Given the description of an element on the screen output the (x, y) to click on. 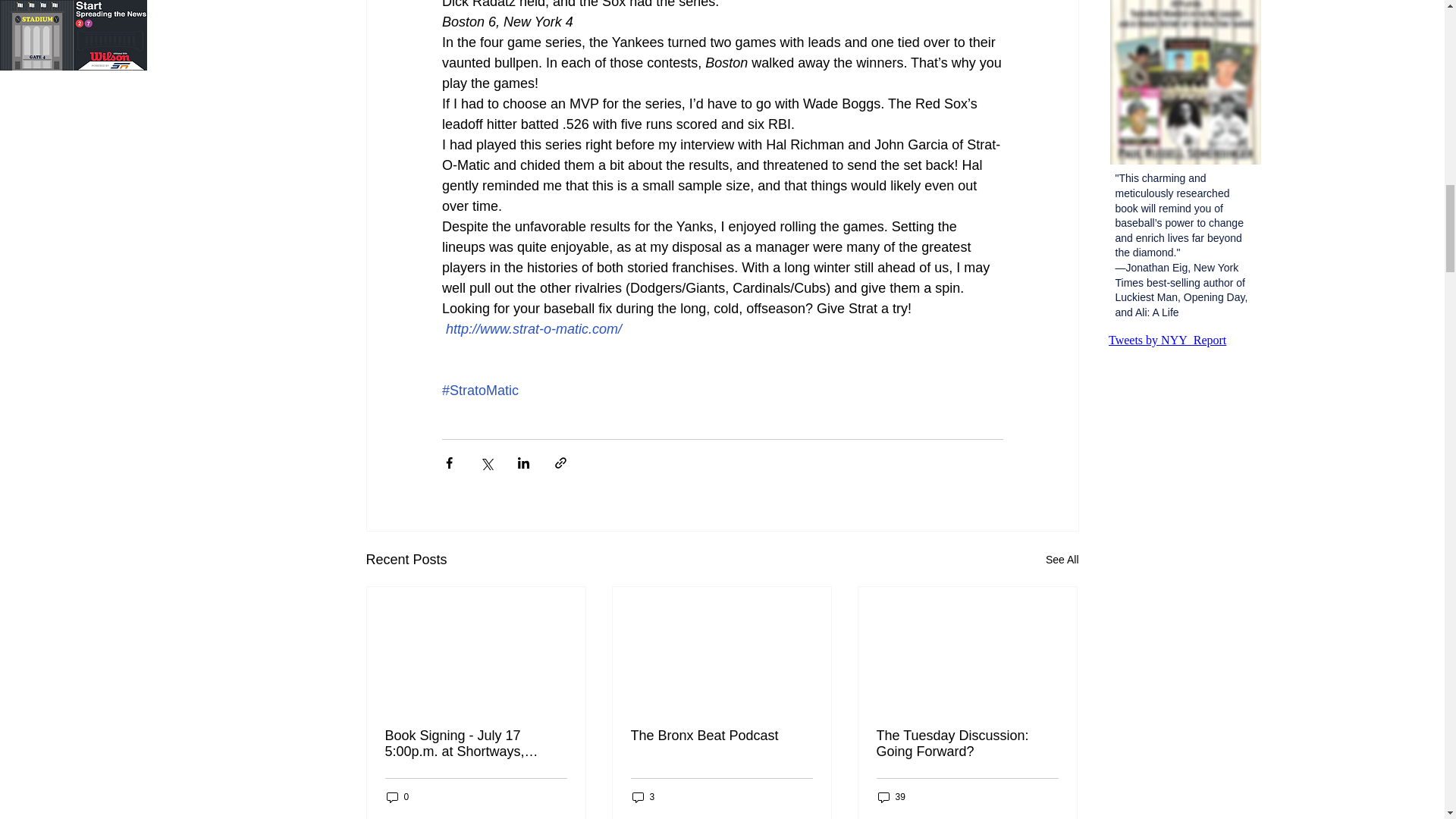
3 (643, 797)
See All (1061, 559)
The Tuesday Discussion: Going Forward? (967, 744)
The Bronx Beat Podcast (721, 735)
39 (891, 797)
Book Signing - July 17 5:00p.m. at Shortways, Hawthorne, NJ (476, 744)
0 (397, 797)
